Given the description of an element on the screen output the (x, y) to click on. 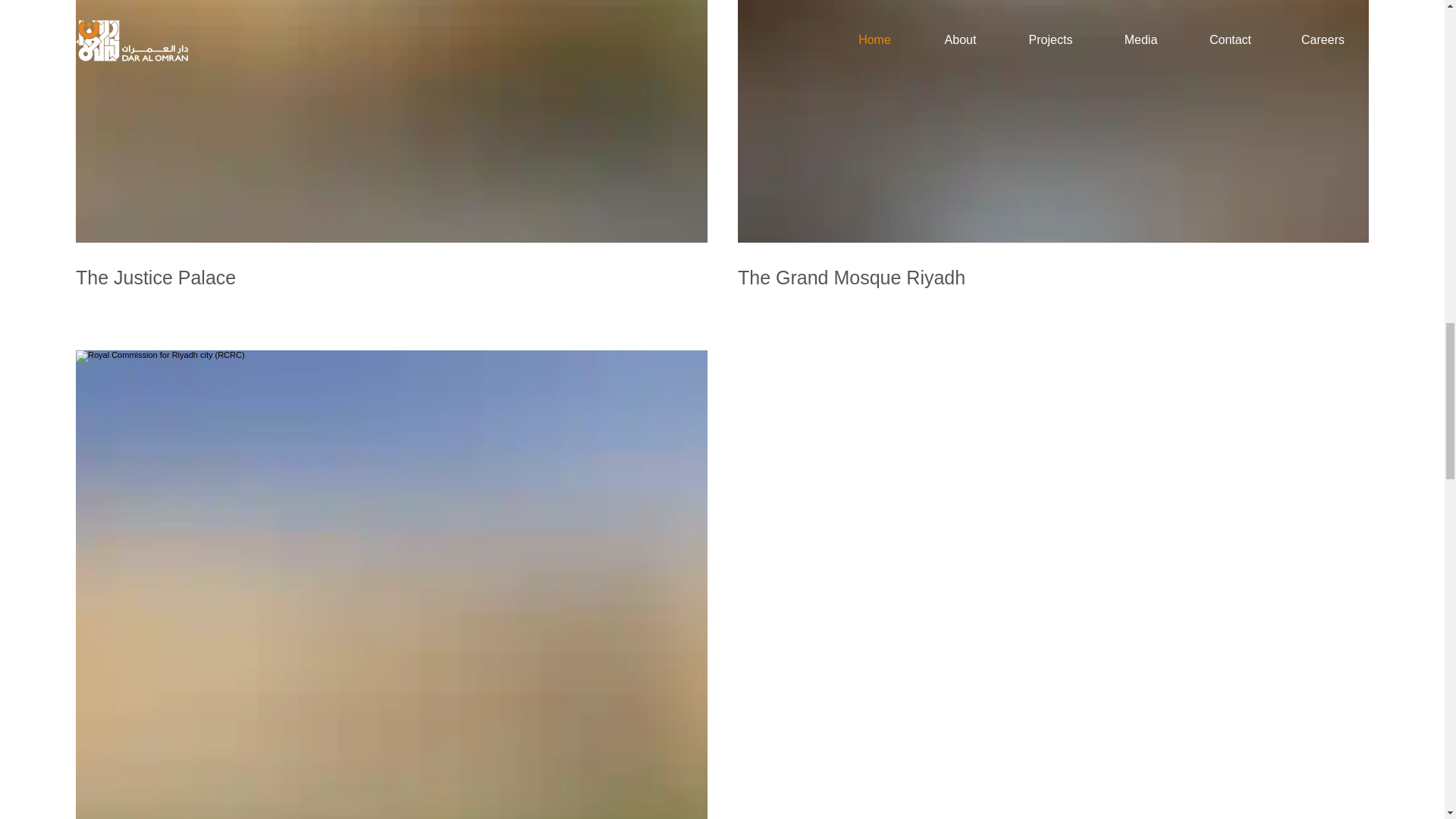
The Grand Mosque Riyadh (1053, 277)
The Justice Palace (391, 277)
